Given the description of an element on the screen output the (x, y) to click on. 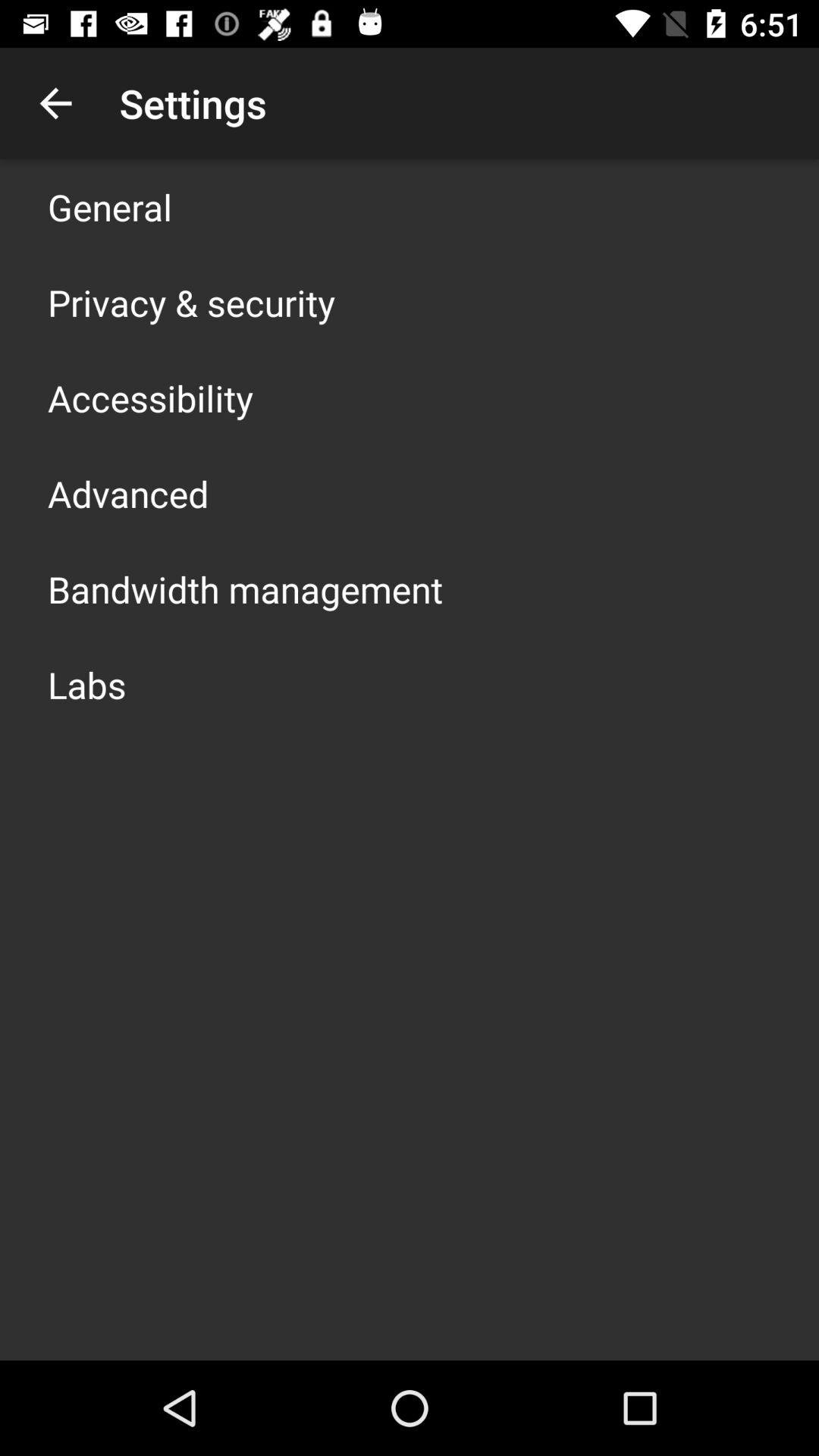
press app above accessibility item (190, 302)
